Given the description of an element on the screen output the (x, y) to click on. 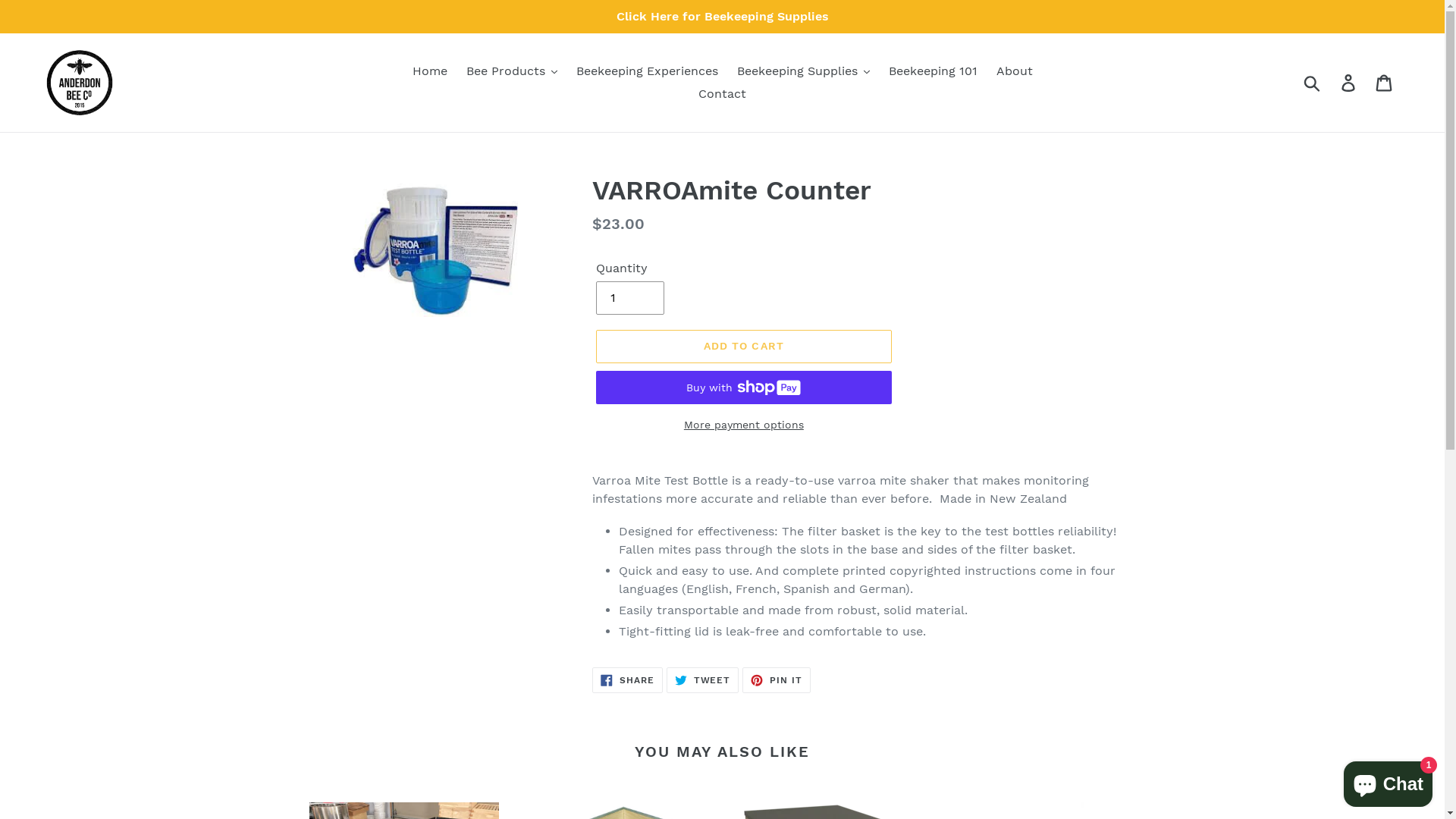
Beekeeping Experiences Element type: text (646, 70)
Contact Element type: text (721, 93)
Beekeeping 101 Element type: text (933, 70)
Cart Element type: text (1384, 82)
Click Here for Beekeeping Supplies Element type: text (722, 16)
Home Element type: text (429, 70)
Submit Element type: text (1312, 82)
SHARE
SHARE ON FACEBOOK Element type: text (627, 680)
More payment options Element type: text (743, 424)
PIN IT
PIN ON PINTEREST Element type: text (776, 680)
Shopify online store chat Element type: hover (1388, 780)
ADD TO CART Element type: text (743, 346)
Log in Element type: text (1349, 82)
TWEET
TWEET ON TWITTER Element type: text (702, 680)
About Element type: text (1014, 70)
